Given the description of an element on the screen output the (x, y) to click on. 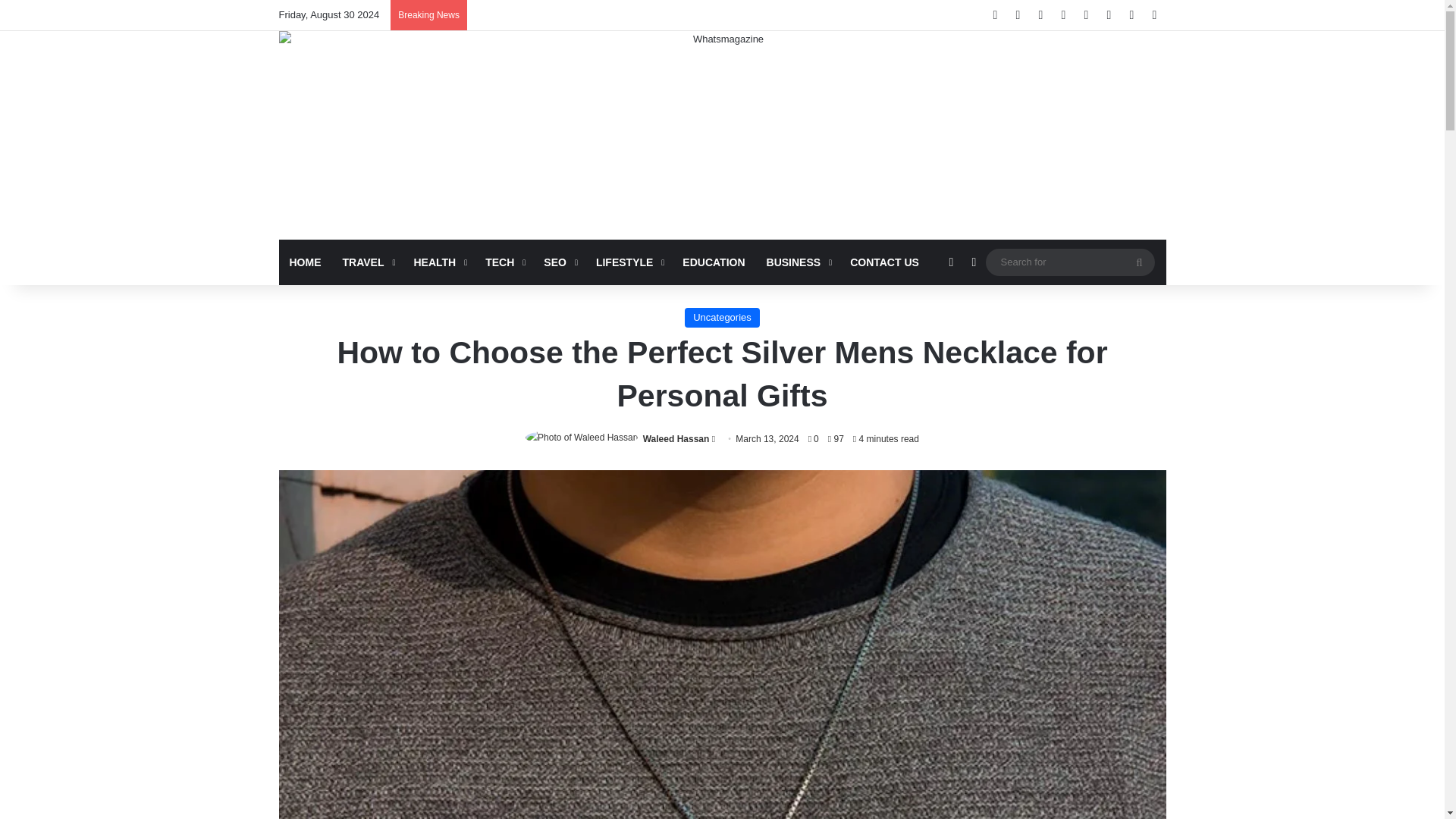
LIFESTYLE (628, 262)
EDUCATION (713, 262)
BUSINESS (797, 262)
TRAVEL (367, 262)
HEALTH (438, 262)
SEO (558, 262)
HOME (305, 262)
Search for (1069, 262)
Waleed Hassan (676, 439)
